Given the description of an element on the screen output the (x, y) to click on. 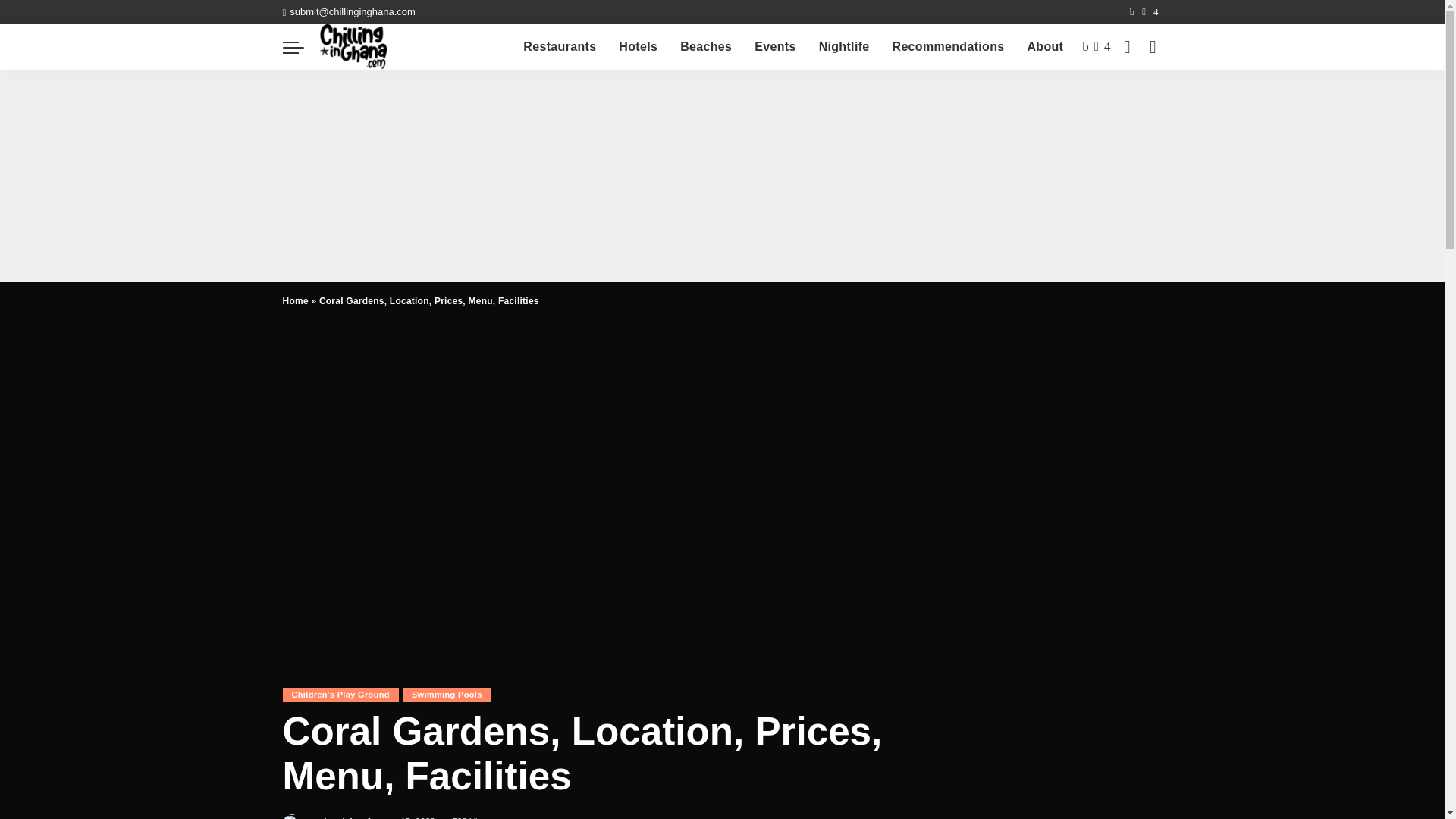
Restaurants (559, 46)
Hotels (637, 46)
Nightlife (844, 46)
Recommendations (948, 46)
Search (1140, 89)
Events (774, 46)
Beaches (705, 46)
Chilling In Ghana (352, 46)
About (1044, 46)
